Given the description of an element on the screen output the (x, y) to click on. 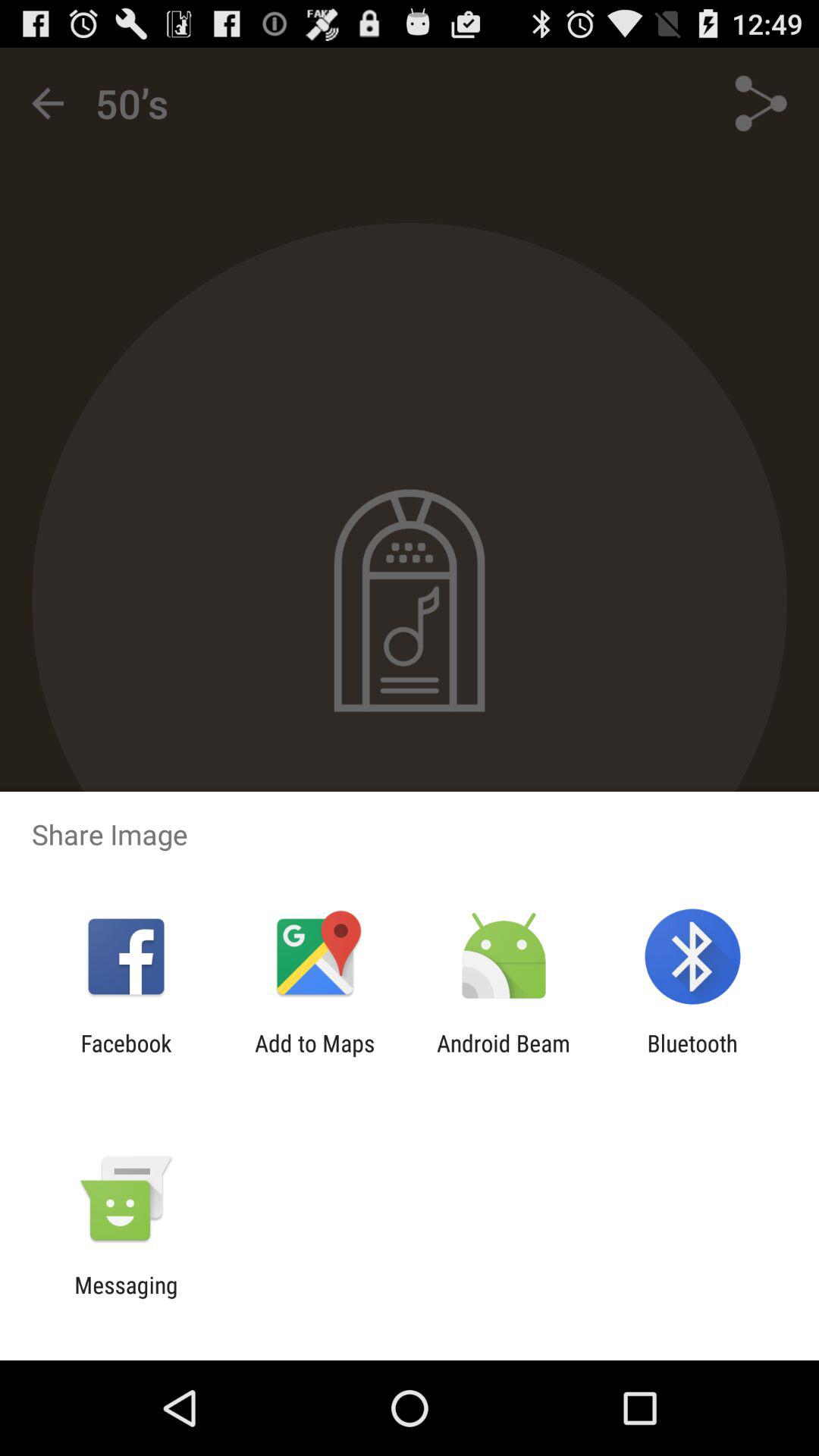
click the icon to the right of android beam icon (692, 1056)
